Given the description of an element on the screen output the (x, y) to click on. 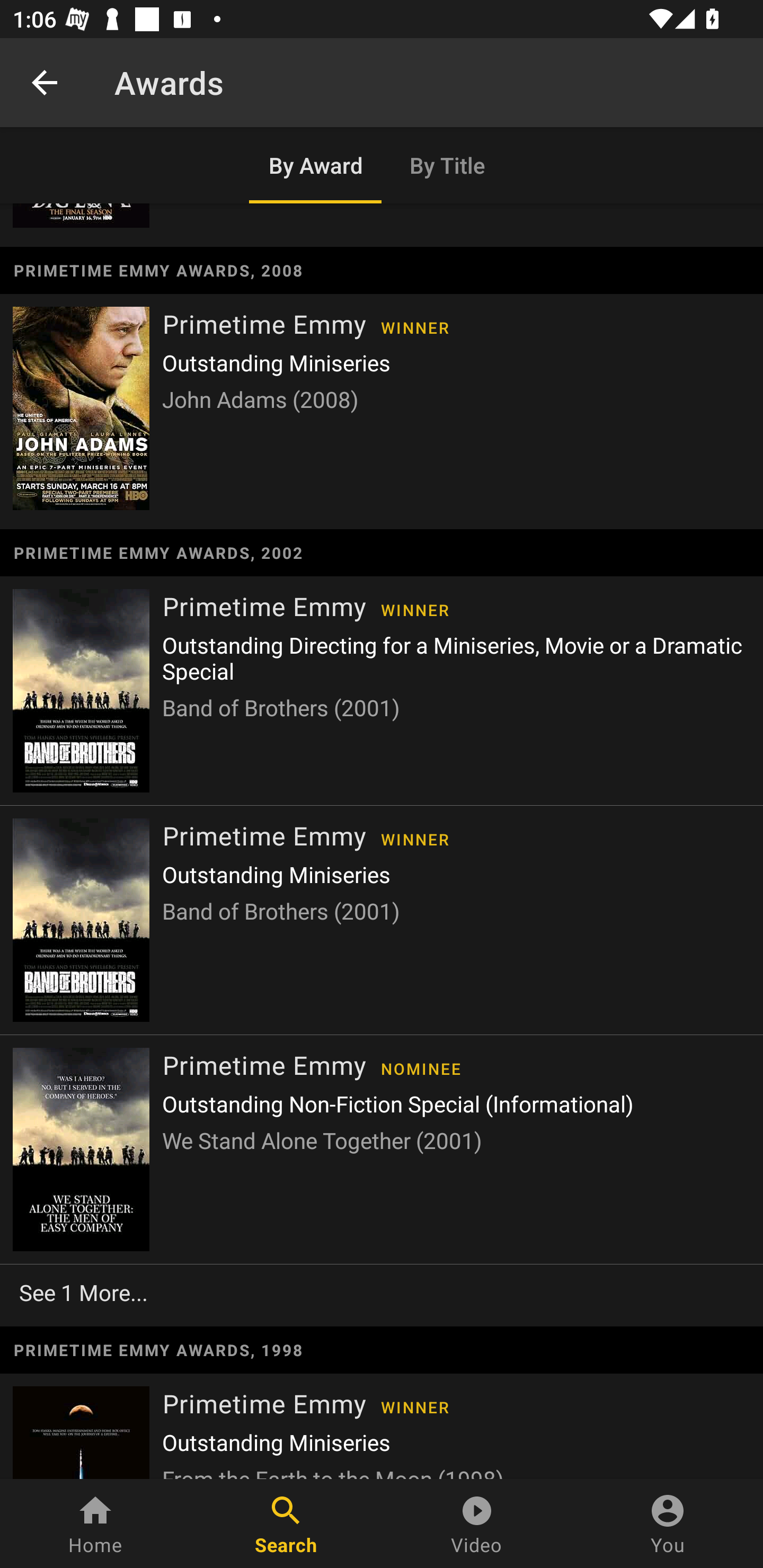
By Title (447, 165)
See 1 More... (381, 1291)
Home (95, 1523)
Video (476, 1523)
You (667, 1523)
